Given the description of an element on the screen output the (x, y) to click on. 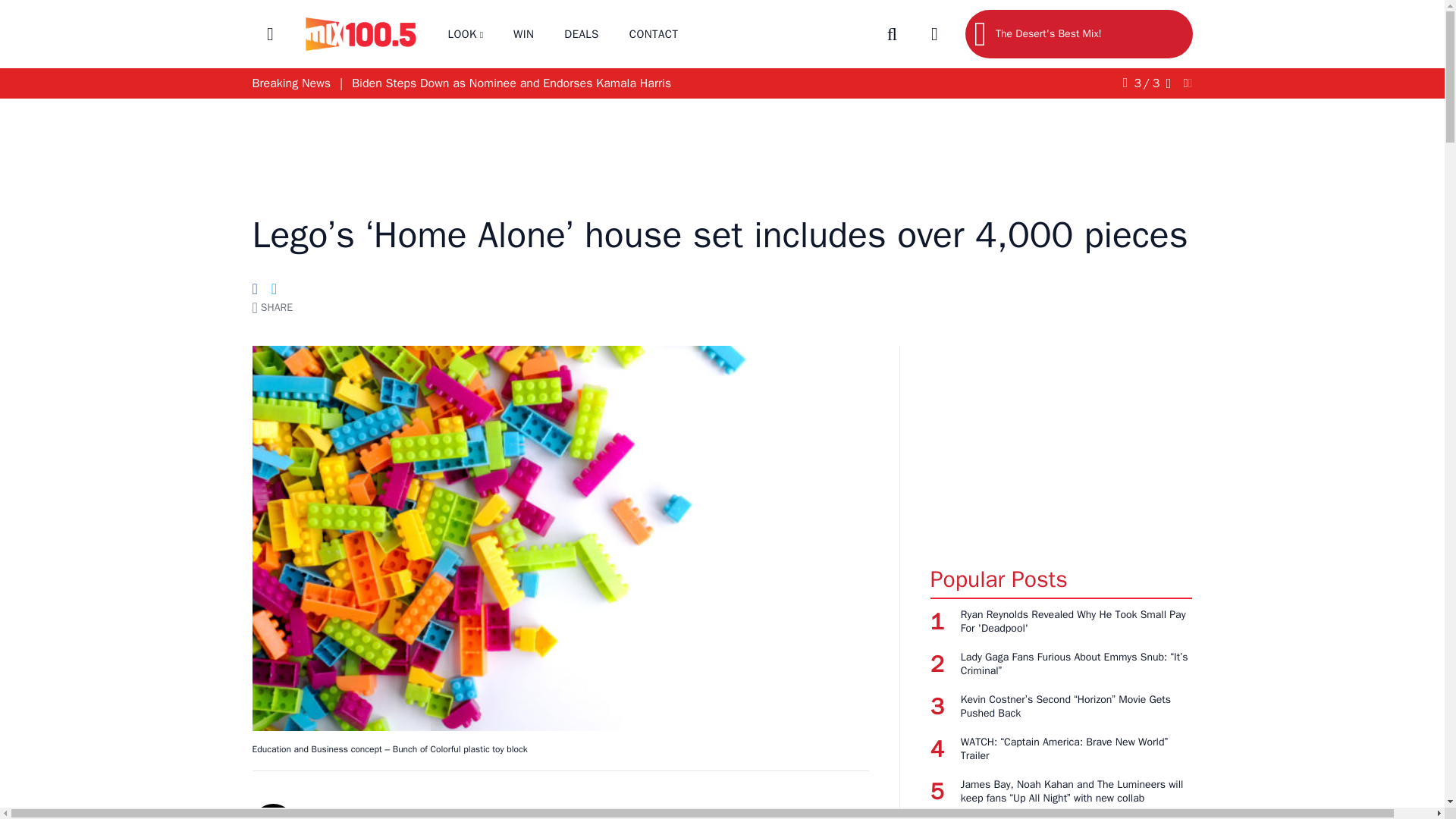
3rd party ad content (721, 147)
MIX 100.5 (359, 34)
3rd party ad content (1060, 440)
